Given the description of an element on the screen output the (x, y) to click on. 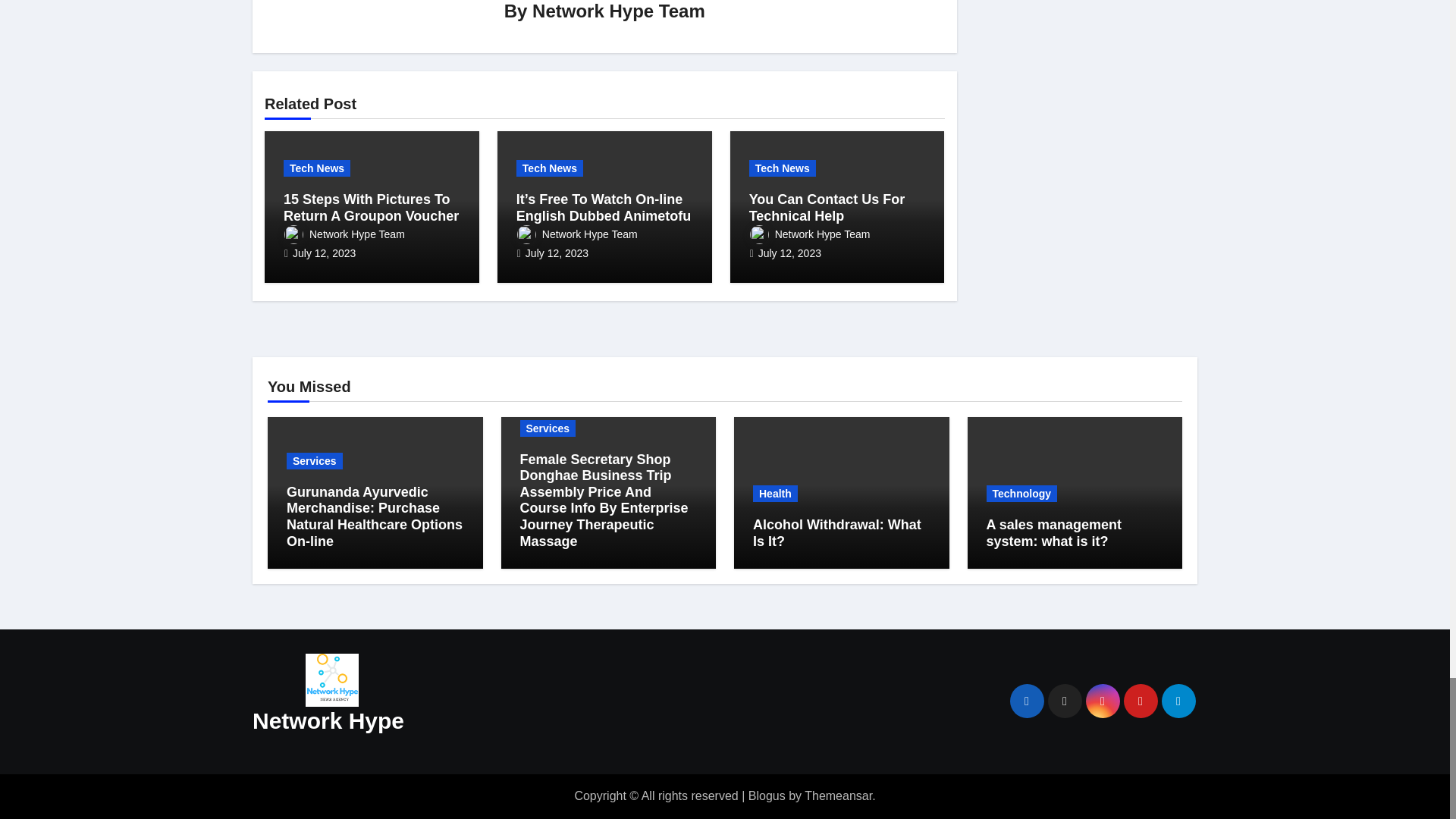
Permalink to: Alcohol Withdrawal: What Is It? (836, 532)
Permalink to: You Can Contact Us For Technical Help (827, 207)
Permalink to: A sales management system: what is it? (1053, 532)
